Given the description of an element on the screen output the (x, y) to click on. 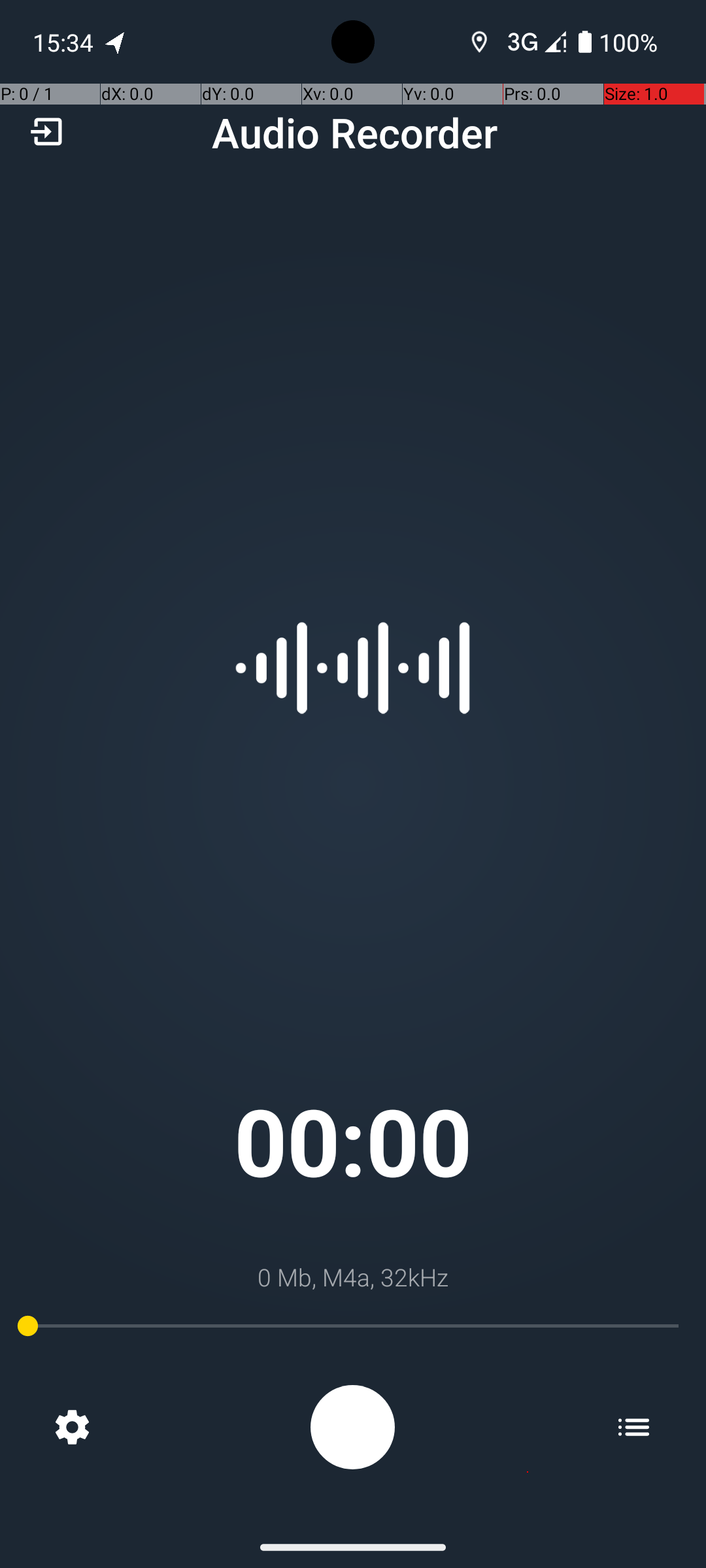
Audio Recorder Element type: android.widget.TextView (354, 132)
00:00 Element type: android.widget.TextView (352, 1140)
0 Mb, M4a, 32kHz Element type: android.widget.TextView (352, 1276)
Settings Element type: android.widget.ImageButton (72, 1427)
Recording: %s Element type: android.widget.ImageButton (352, 1427)
OpenTracks notification: Distance: 0.00 ft Element type: android.widget.ImageView (115, 41)
Location requests active Element type: android.widget.ImageView (479, 41)
Phone two bars. Element type: android.widget.FrameLayout (534, 41)
